Given the description of an element on the screen output the (x, y) to click on. 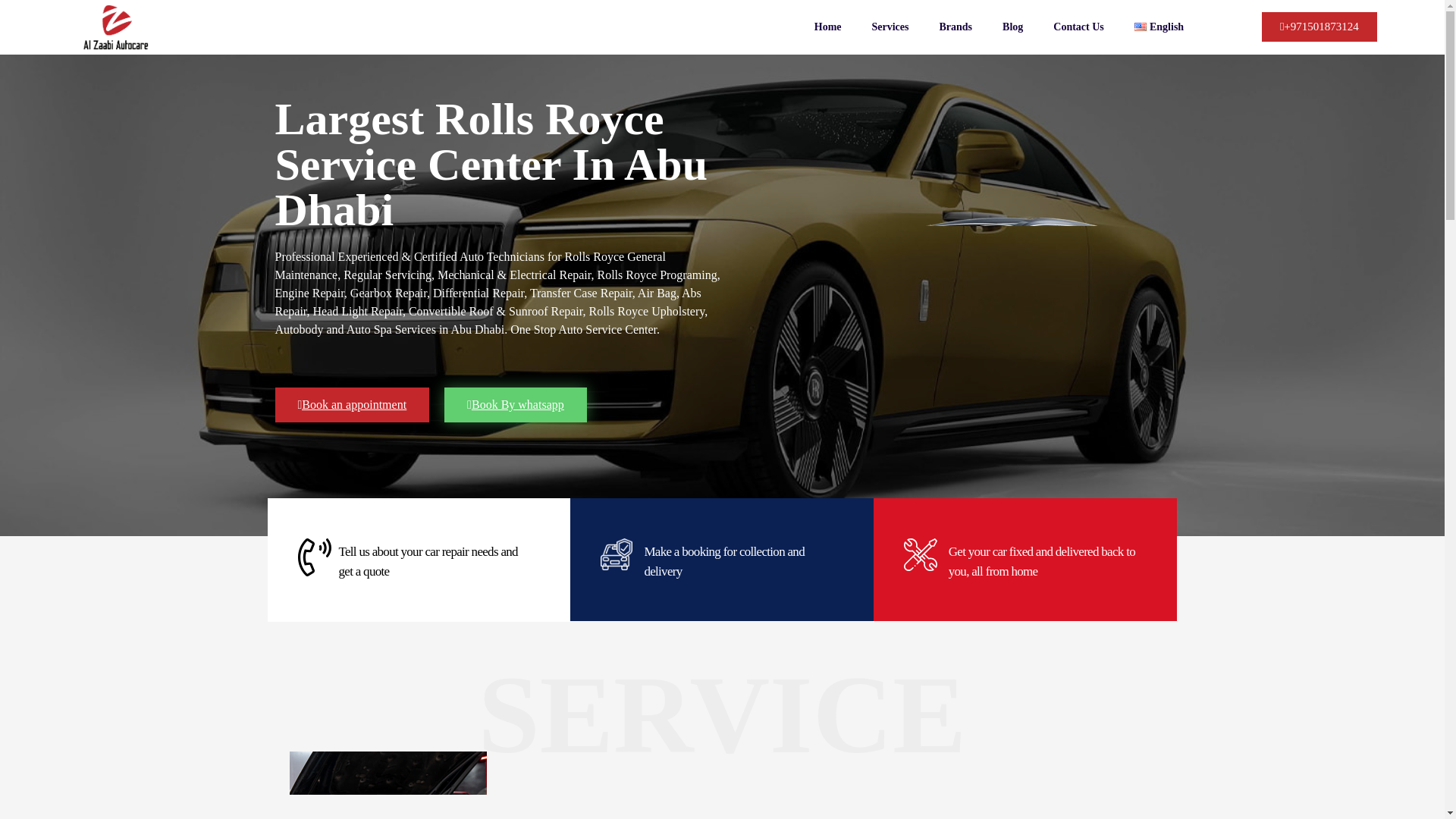
Brands (955, 27)
Services (890, 27)
Home (828, 27)
